Given the description of an element on the screen output the (x, y) to click on. 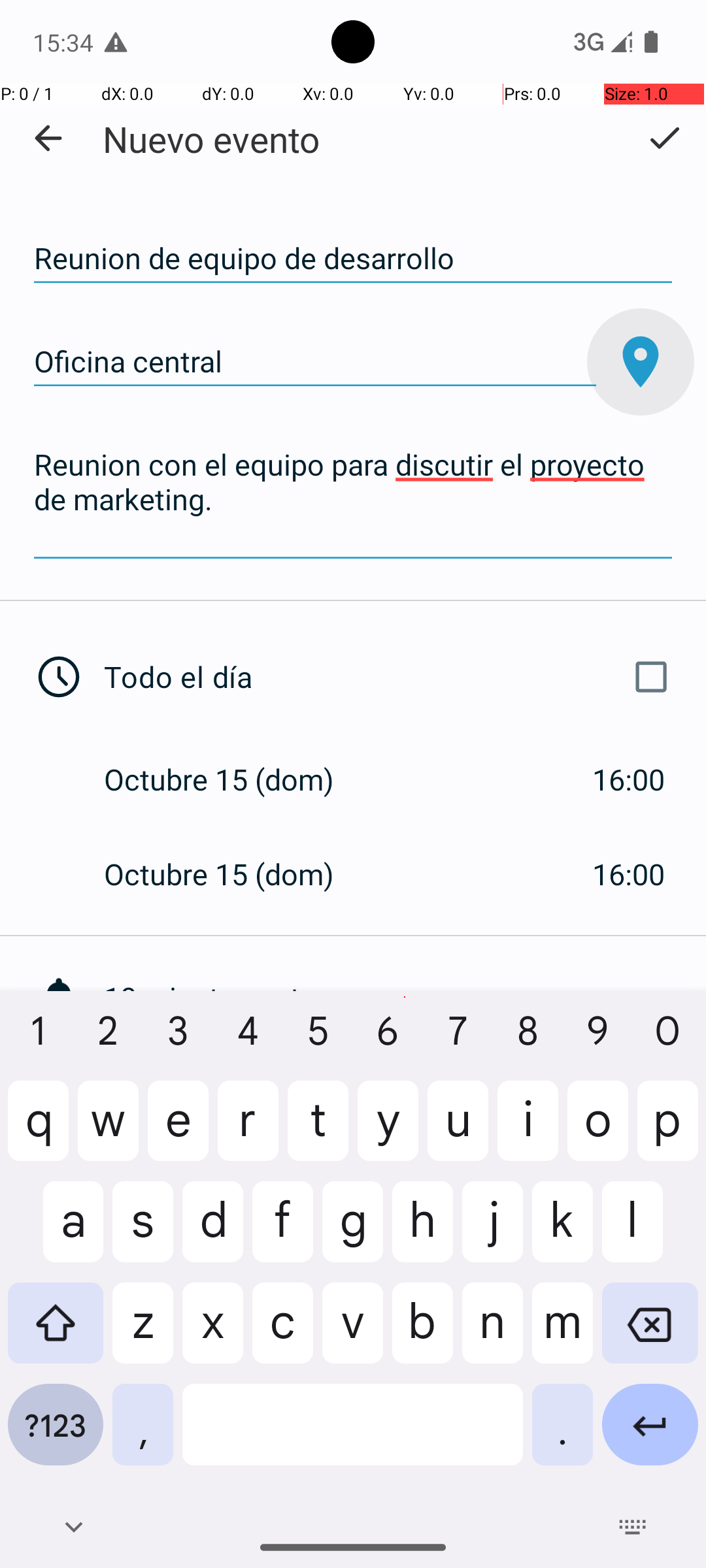
Reunion de equipo de desarrollo Element type: android.widget.EditText (352, 258)
Oficina central Element type: android.widget.EditText (314, 361)
Reunion con el equipo para discutir el proyecto de marketing.
 Element type: android.widget.EditText (352, 499)
